Given the description of an element on the screen output the (x, y) to click on. 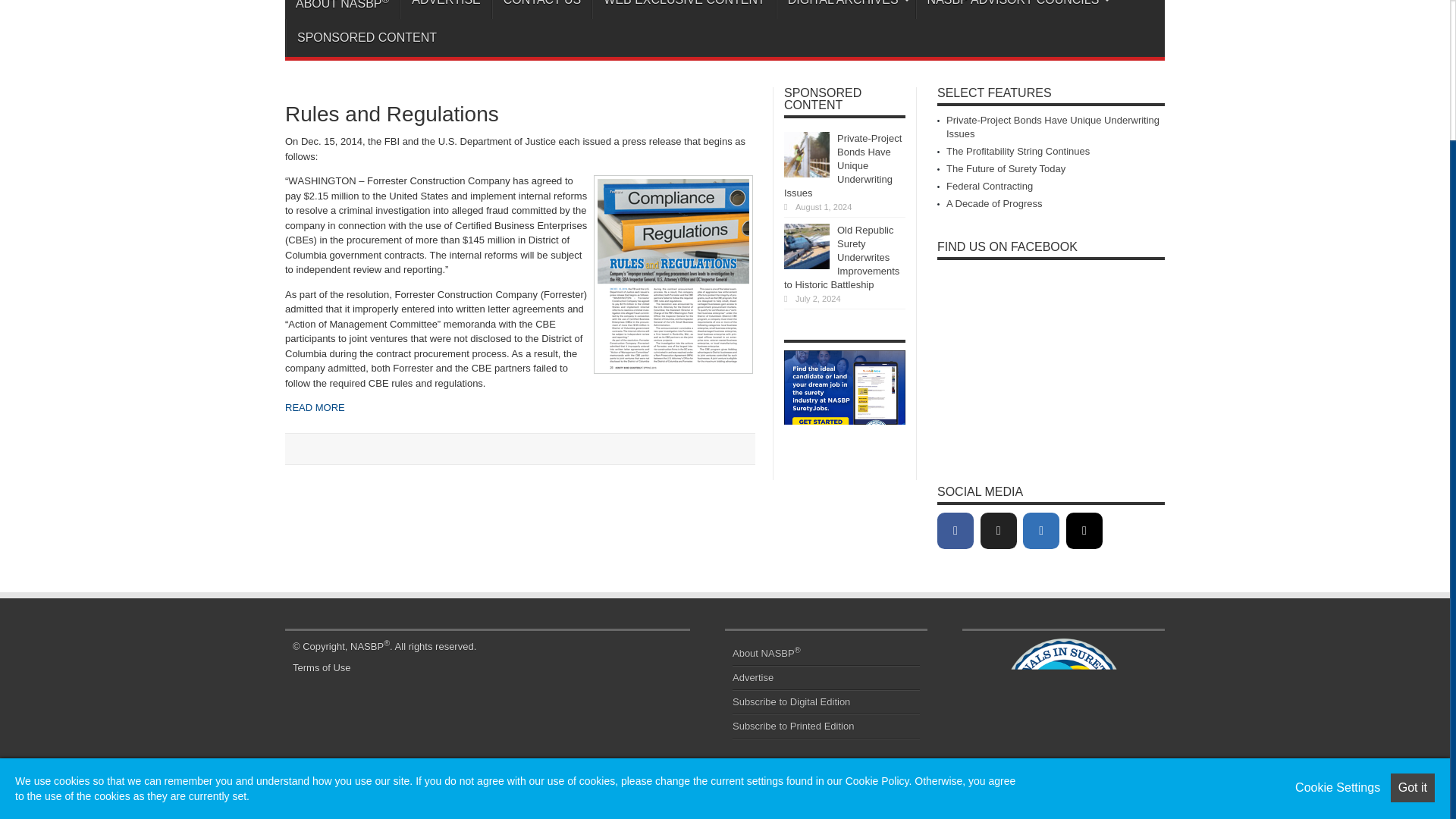
Facebook (955, 530)
WEB EXCLUSIVE CONTENT (683, 9)
NASBP ADVISORY COUNCILS (1015, 9)
Instagram (1083, 530)
SPONSORED CONTENT (365, 37)
Linkedin (1041, 530)
Private-Project Bonds Have Unique Underwriting Issues (1052, 126)
ADVERTISE (445, 9)
